Given the description of an element on the screen output the (x, y) to click on. 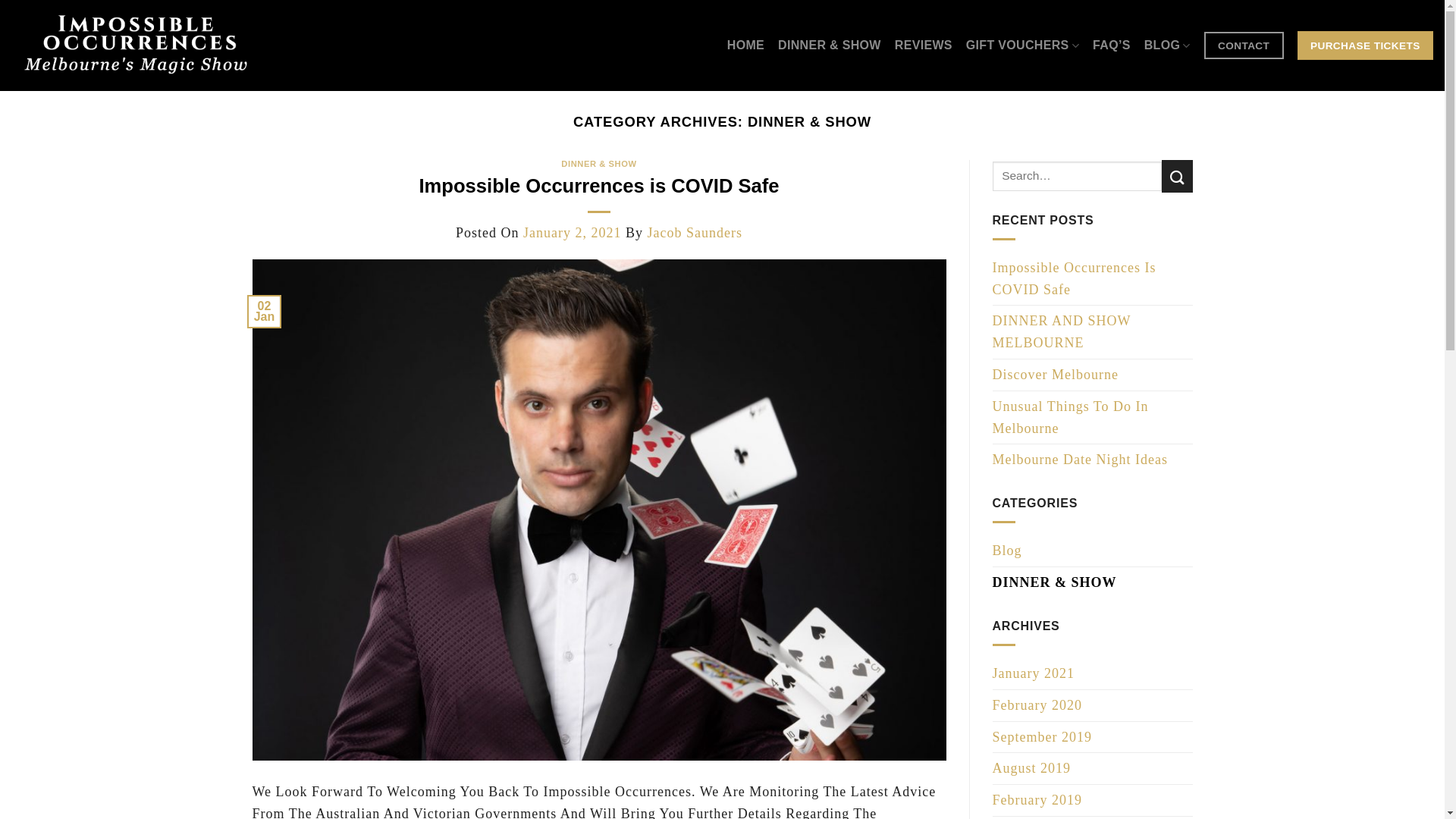
Blog Element type: text (1006, 550)
CONTACT Element type: text (1243, 45)
February 2020 Element type: text (1036, 705)
August 2019 Element type: text (1030, 768)
Impossible Occurrences Is COVID Safe Element type: text (1091, 278)
Discover Melbourne Element type: text (1054, 374)
PURCHASE TICKETS Element type: text (1365, 45)
January 2021 Element type: text (1032, 673)
January 2, 2021 Element type: text (572, 232)
GIFT VOUCHERS Element type: text (1022, 45)
Unusual Things To Do In Melbourne Element type: text (1091, 417)
Impossible Occurrences is COVID Safe Element type: text (598, 185)
DINNER AND SHOW MELBOURNE Element type: text (1091, 331)
REVIEWS Element type: text (923, 45)
HOME Element type: text (745, 45)
Melbourne Date Night Ideas Element type: text (1079, 459)
BLOG Element type: text (1167, 45)
September 2019 Element type: text (1041, 737)
February 2019 Element type: text (1036, 799)
DINNER & SHOW Element type: text (1053, 582)
DINNER & SHOW Element type: text (598, 163)
Jacob Saunders Element type: text (694, 232)
DINNER & SHOW Element type: text (829, 45)
